Given the description of an element on the screen output the (x, y) to click on. 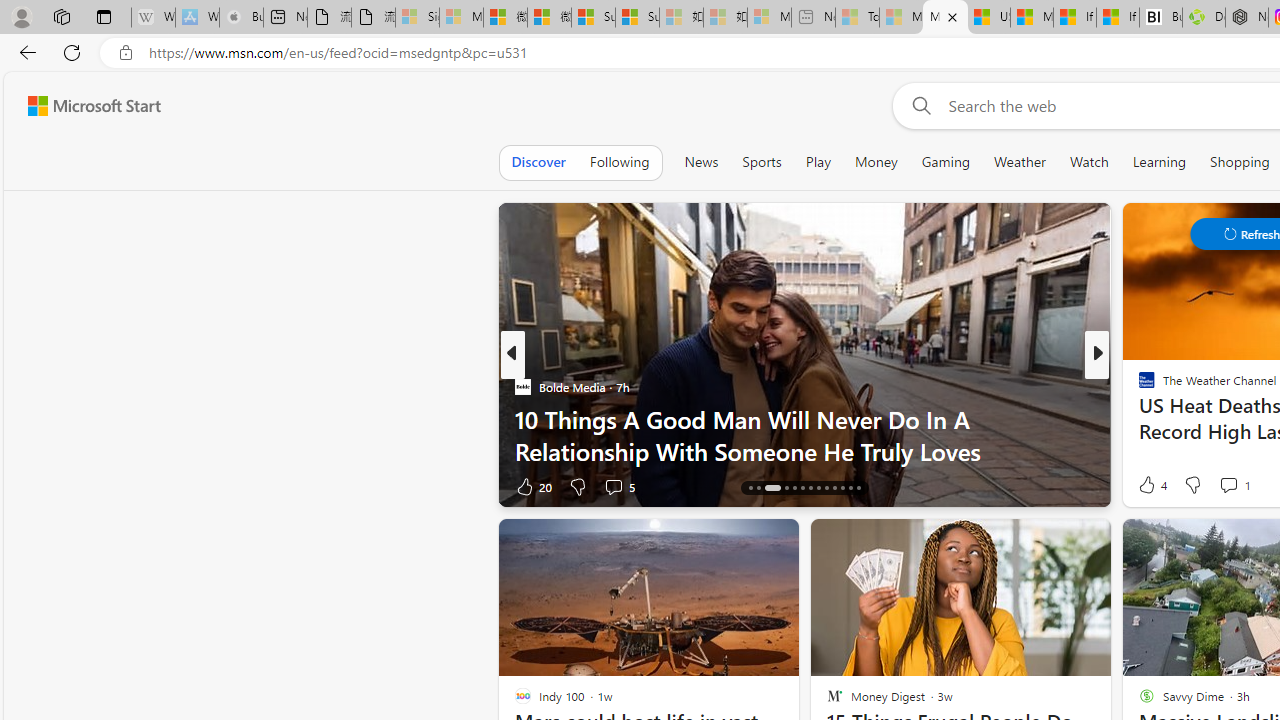
Nordace - Nordace Edin Collection (1247, 17)
Bolde Media (522, 386)
Gaming (945, 161)
A Conscious Rethink (1138, 386)
Microsoft account | Account Checkup - Sleeping (769, 17)
Hide this story (1050, 542)
Play (818, 162)
View comments 1 Comment (1234, 484)
View comments 339 Comment (1247, 486)
150 Like (1151, 486)
